Given the description of an element on the screen output the (x, y) to click on. 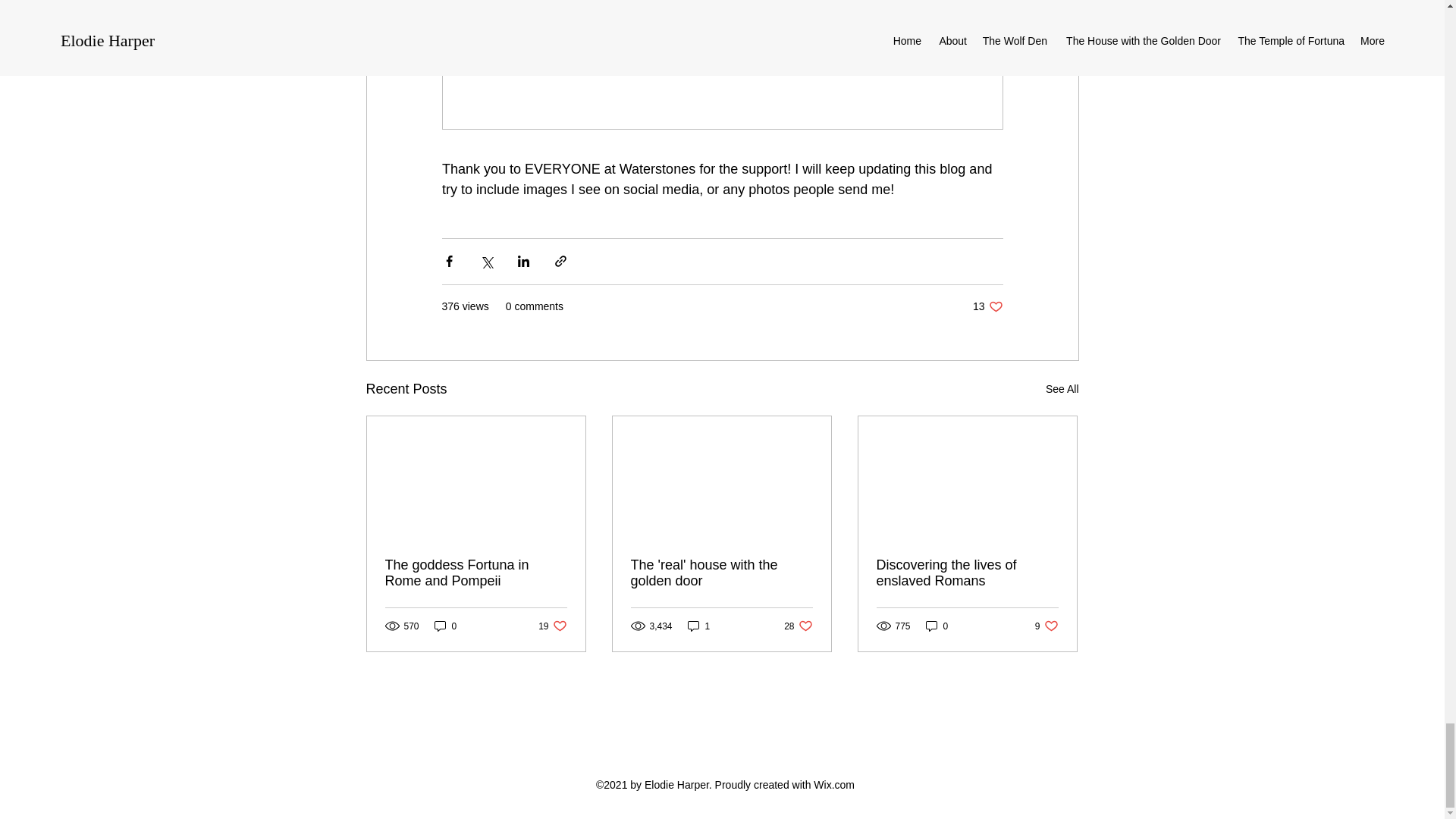
1 (1046, 626)
0 (552, 626)
Discovering the lives of enslaved Romans (698, 626)
The 'real' house with the golden door (937, 626)
0 (967, 572)
The goddess Fortuna in Rome and Pompeii (798, 626)
See All (721, 572)
